Given the description of an element on the screen output the (x, y) to click on. 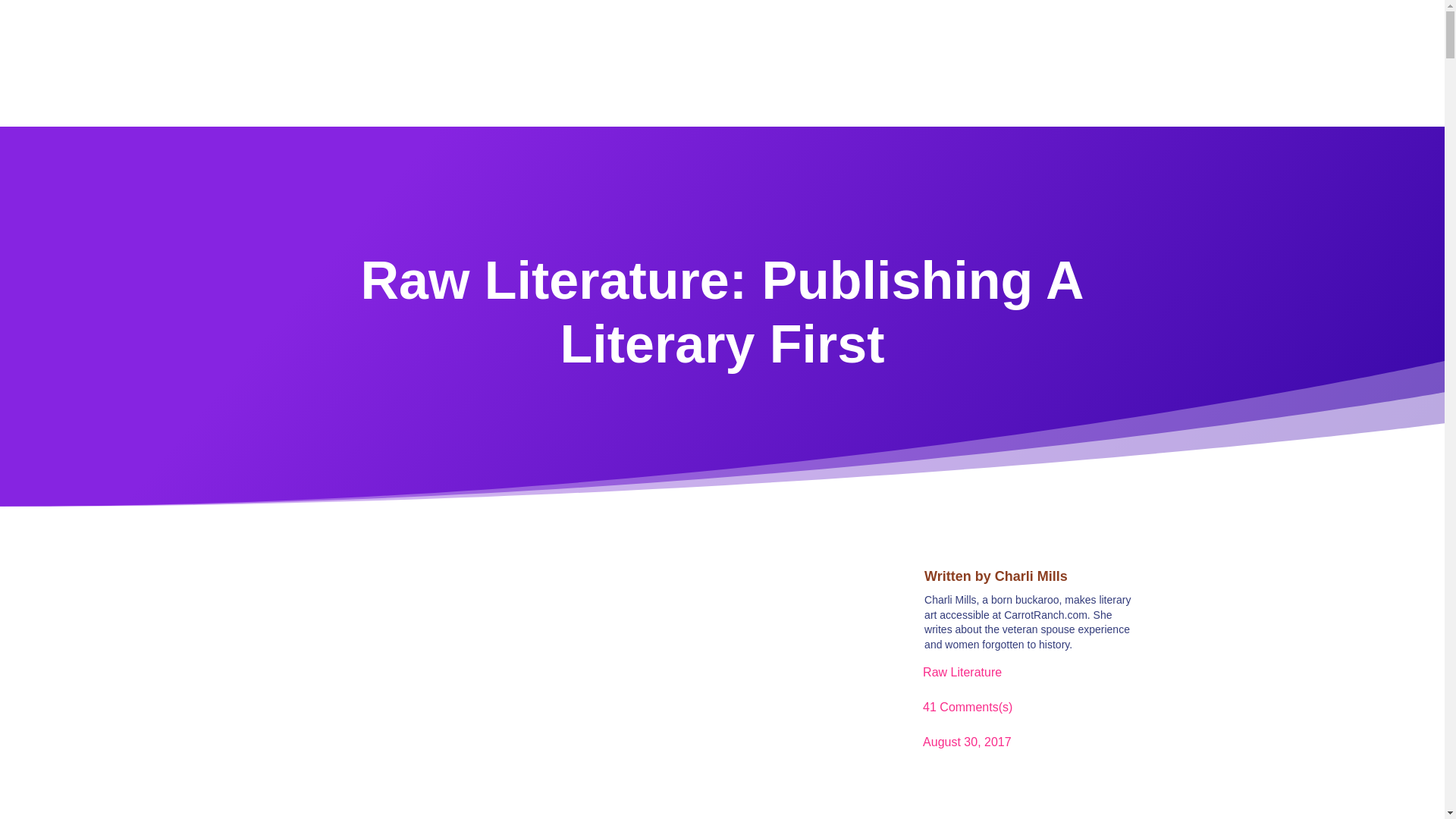
Charli Mills (1030, 575)
Raw Literature (962, 671)
